Given the description of an element on the screen output the (x, y) to click on. 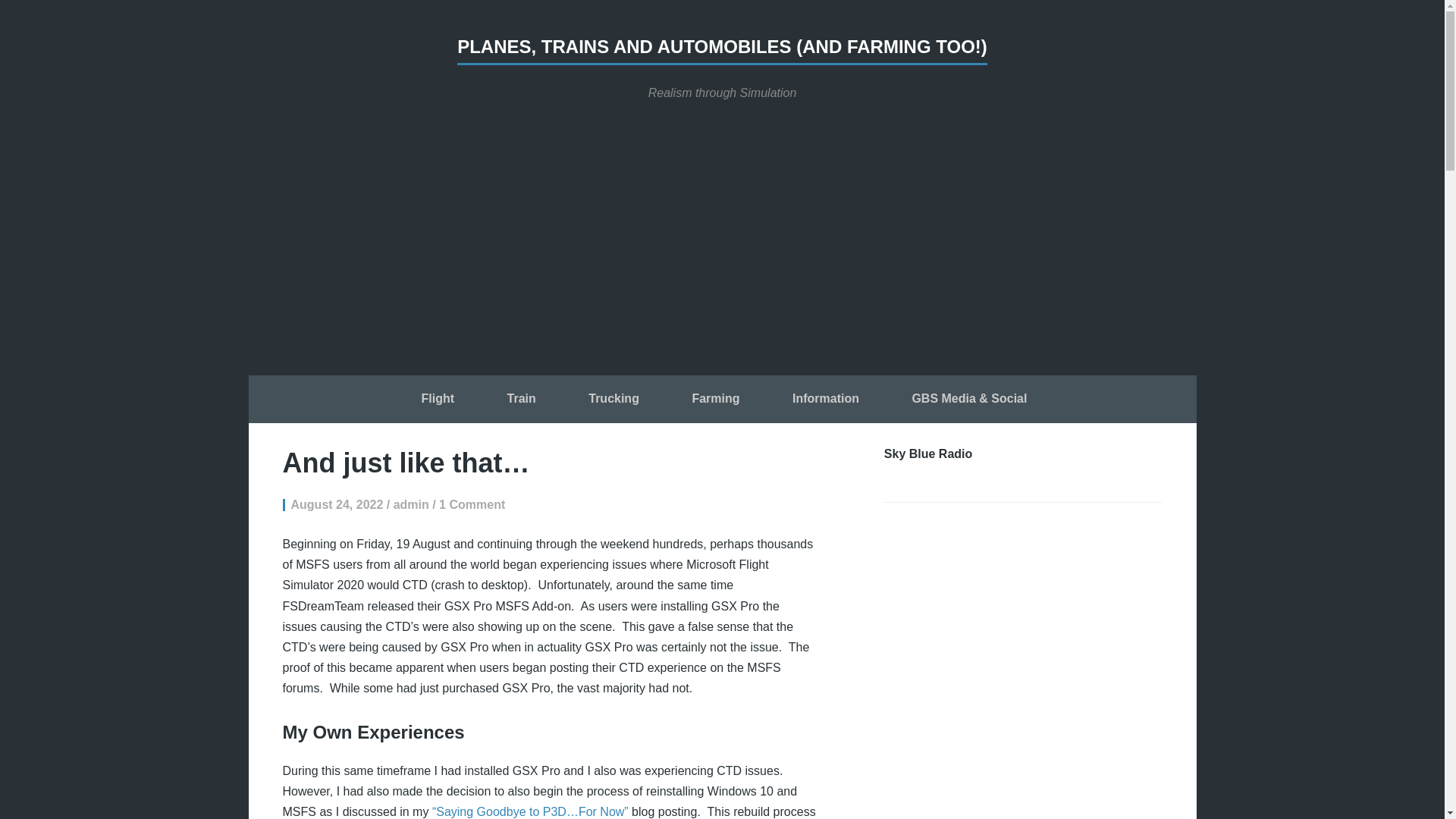
Train (521, 400)
Trucking (613, 400)
Information (825, 400)
Flight (437, 400)
Farming (715, 400)
